Given the description of an element on the screen output the (x, y) to click on. 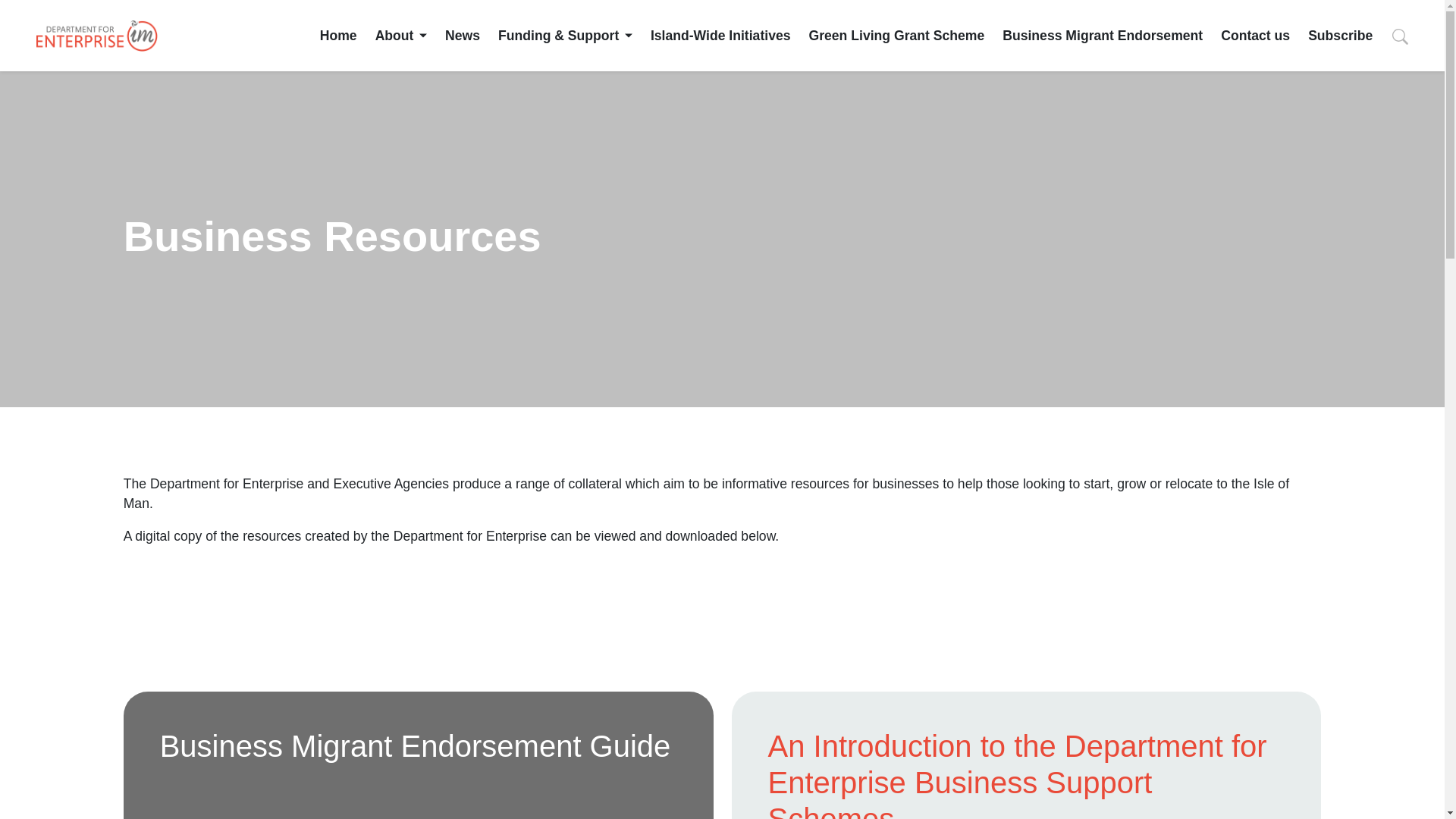
Green Living Grant Scheme (897, 35)
Contact us (1255, 35)
Subscribe (1340, 35)
Island-Wide Initiatives (720, 35)
About (400, 35)
Business Migrant Endorsement (1102, 35)
